Given the description of an element on the screen output the (x, y) to click on. 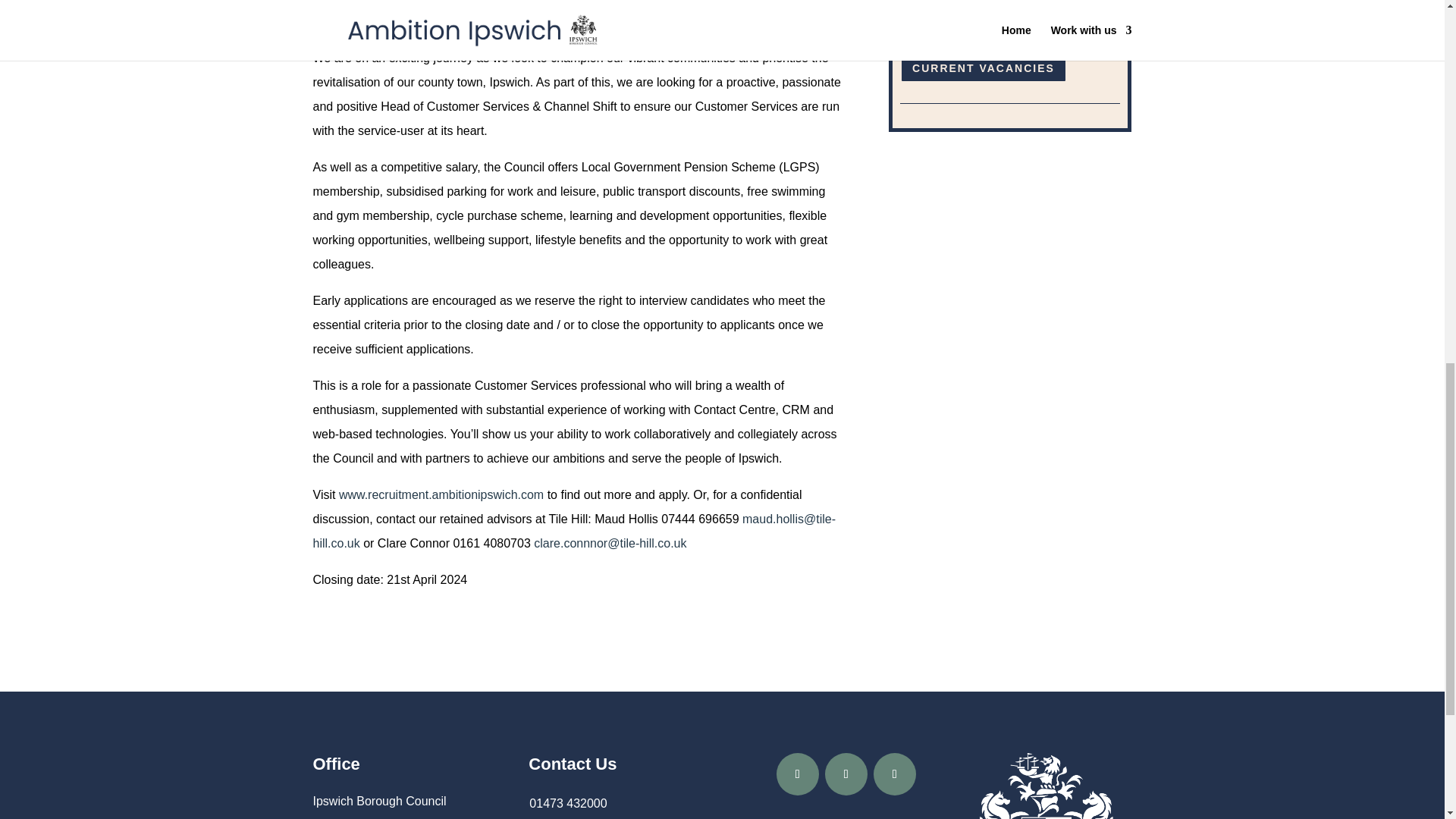
SHARE THIS LISTING (980, 21)
Follow on Twitter (846, 773)
CURRENT VACANCIES (983, 68)
www.recruitment.ambitionipswich.com (441, 494)
Follow on Facebook (797, 773)
Follow on LinkedIn (894, 773)
IBC-WHITE (1045, 785)
